Given the description of an element on the screen output the (x, y) to click on. 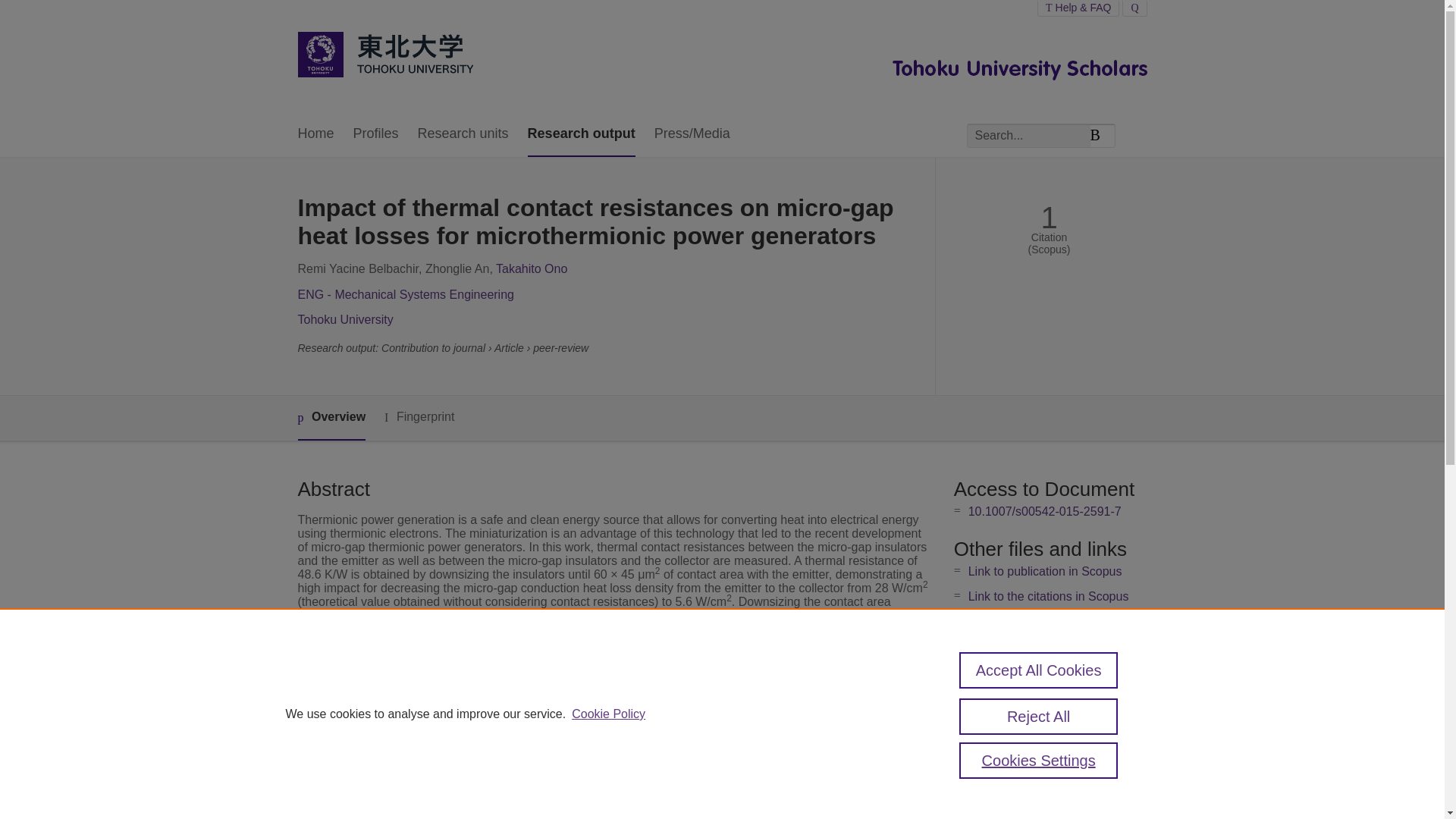
Tohoku University (345, 318)
Tohoku University Home (384, 55)
Overview (331, 417)
ENG - Mechanical Systems Engineering (405, 294)
Microsystem Technologies (580, 719)
Takahito Ono (531, 268)
Profiles (375, 134)
Fingerprint (419, 416)
Link to the citations in Scopus (1048, 595)
